Given the description of an element on the screen output the (x, y) to click on. 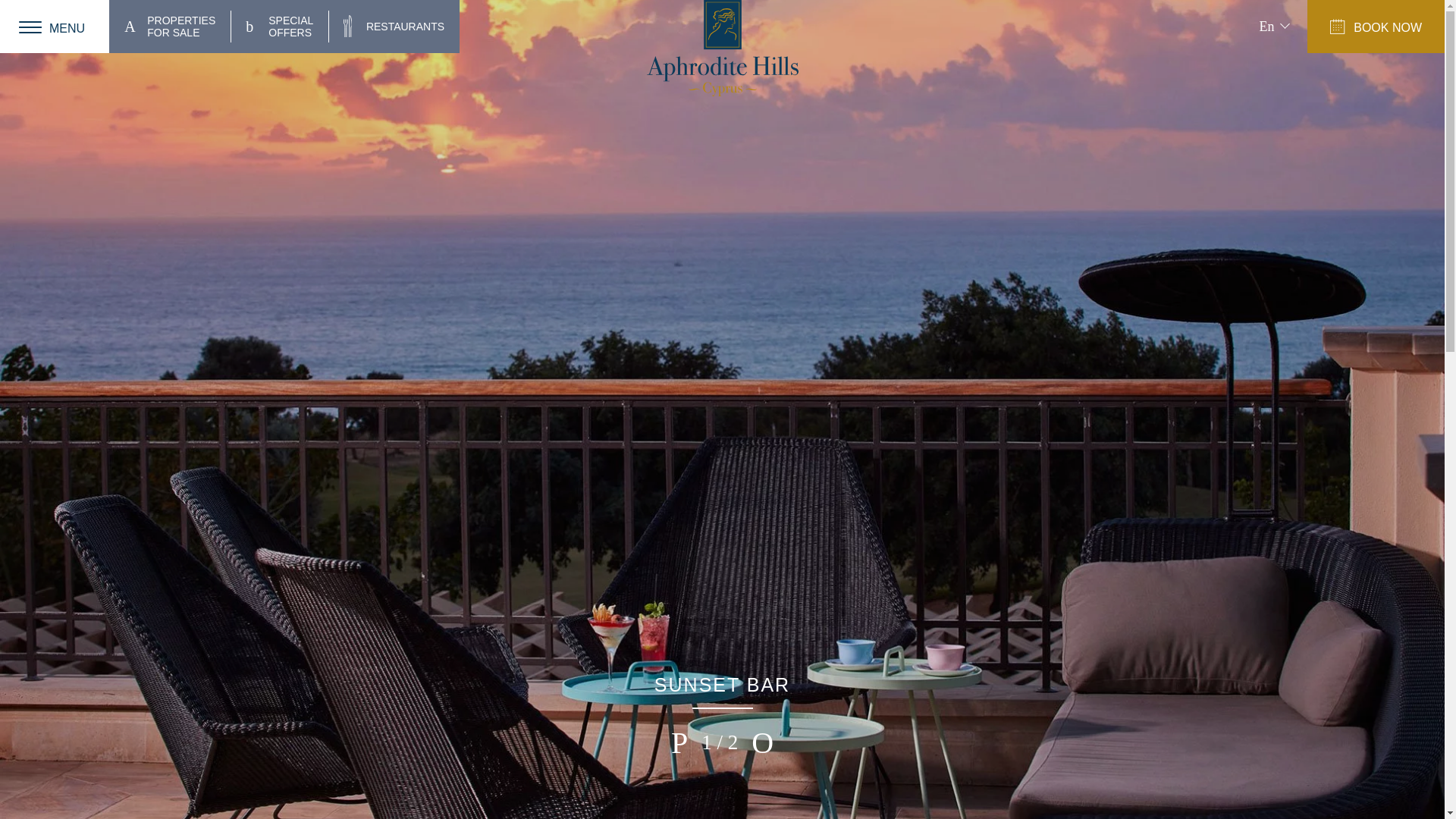
Dining (169, 26)
Aphrodite Hills Resort (393, 26)
Special Offers (721, 48)
PROPERTIES FOR SALE (279, 26)
SPECIAL OFFERS (169, 26)
RESTAURANTS (279, 26)
